Given the description of an element on the screen output the (x, y) to click on. 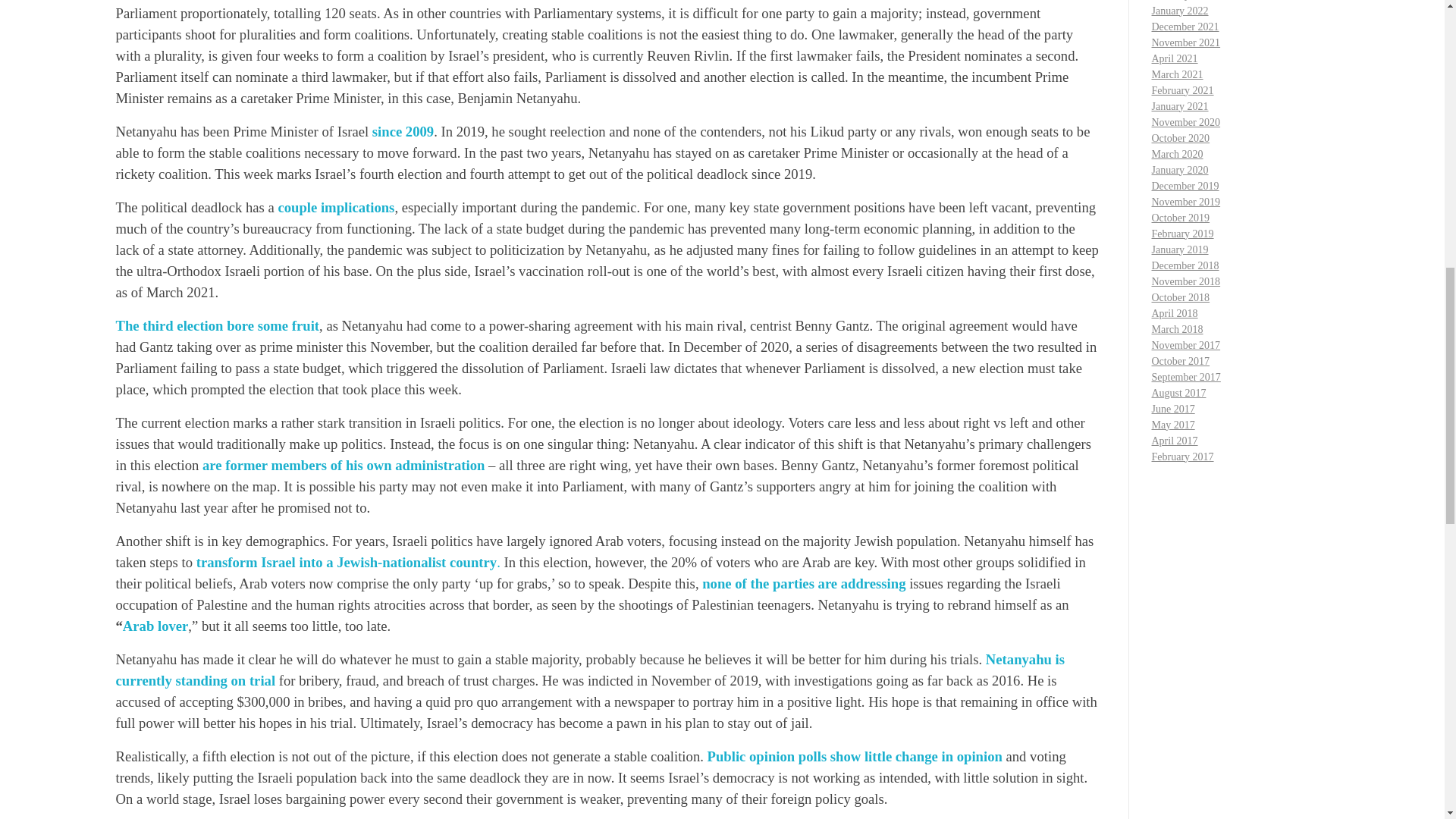
are former members of his own administration (343, 465)
Arab lover (155, 625)
Netanyahu is currently standing on trial (589, 669)
since 2009 (402, 131)
couple implications (336, 207)
transform Israel into a Jewish-nationalist country. (348, 562)
The third election bore some fruit (216, 325)
Public opinion polls show little change in opinion (855, 756)
none of the parties are addressing (803, 583)
